Given the description of an element on the screen output the (x, y) to click on. 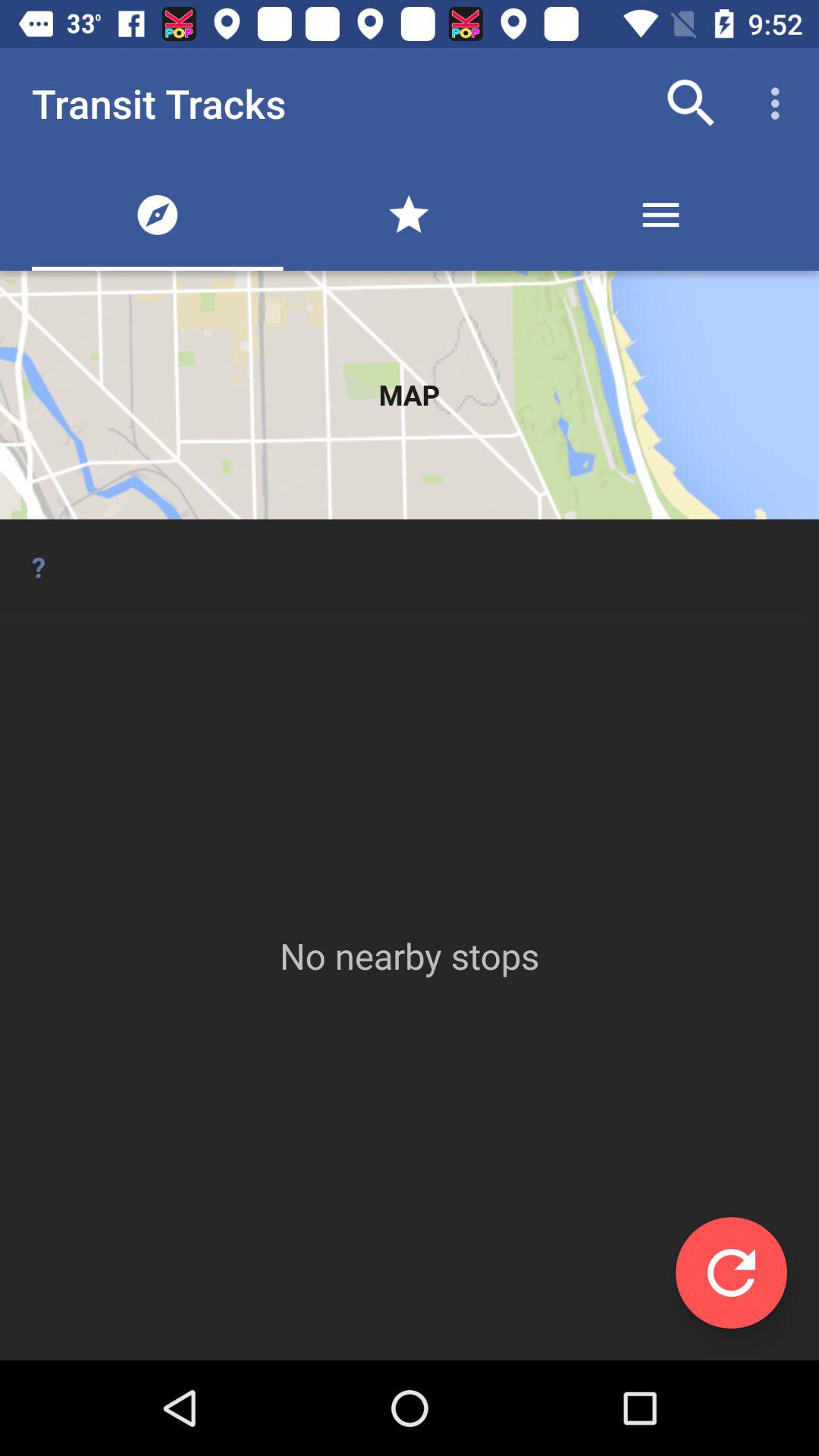
press icon at the bottom right corner (731, 1272)
